Given the description of an element on the screen output the (x, y) to click on. 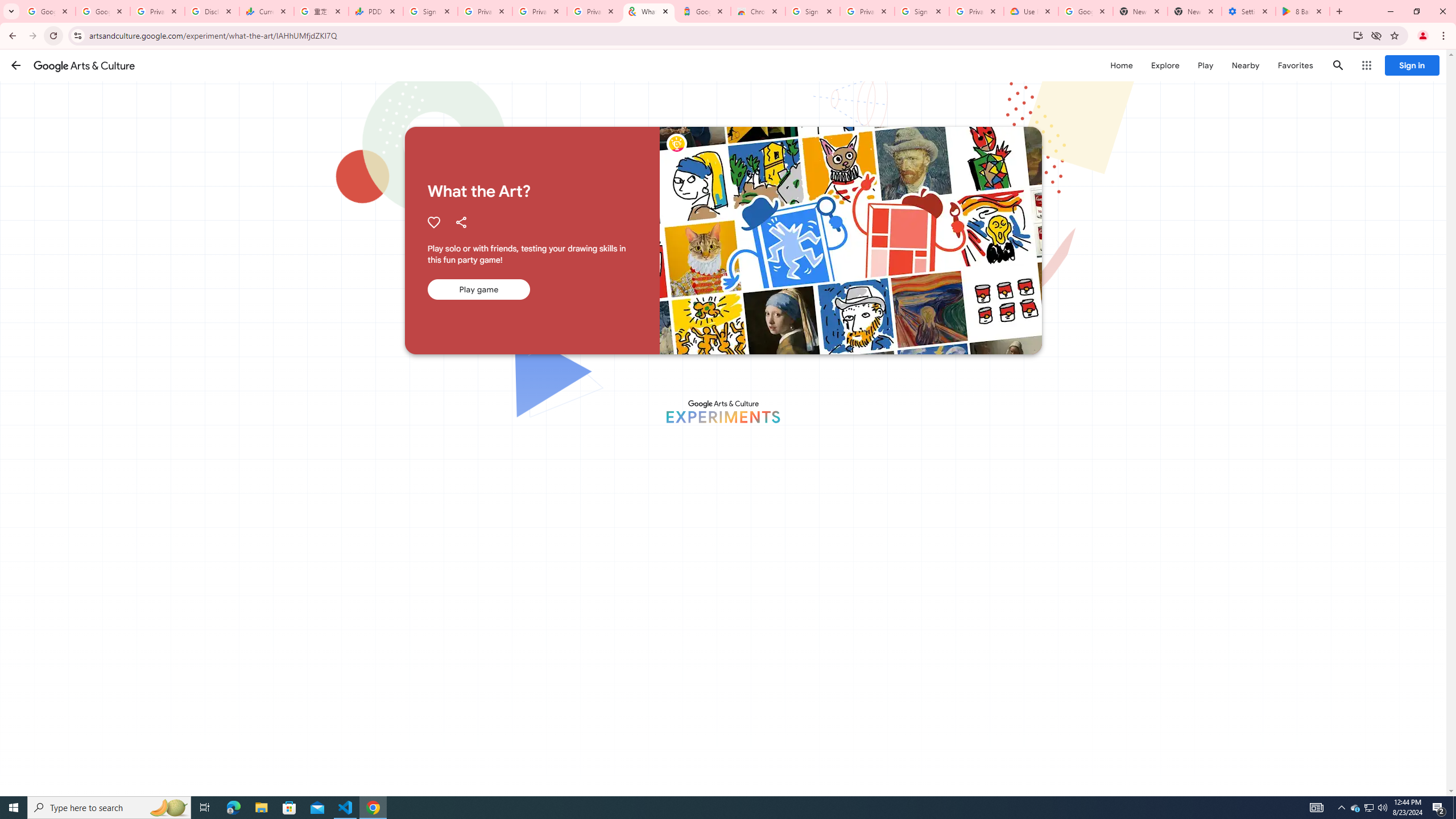
Play (1205, 65)
PDD Holdings Inc - ADR (PDD) Price & News - Google Finance (375, 11)
Google Arts & Culture Experiments (722, 411)
Privacy Checkup (539, 11)
Nearby (1244, 65)
Privacy Checkup (594, 11)
Google Workspace Admin Community (48, 11)
New Tab (1194, 11)
